Given the description of an element on the screen output the (x, y) to click on. 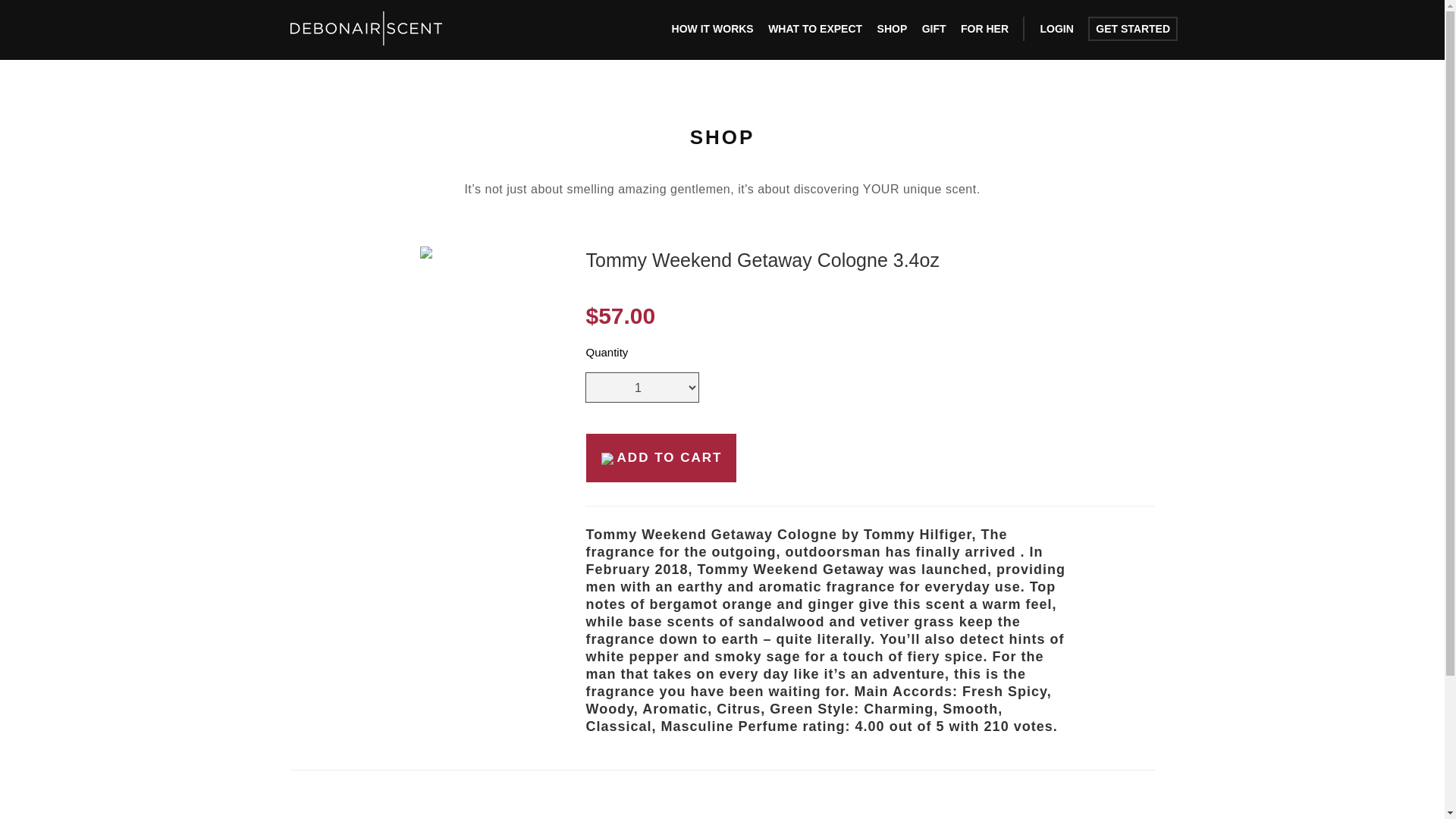
WHAT TO EXPECT (814, 28)
ADD TO CART (660, 458)
GIFT (933, 28)
HOW IT WORKS (712, 28)
LOGIN (1056, 28)
SHOP (892, 28)
GET STARTED (1133, 28)
FOR HER (984, 28)
